Given the description of an element on the screen output the (x, y) to click on. 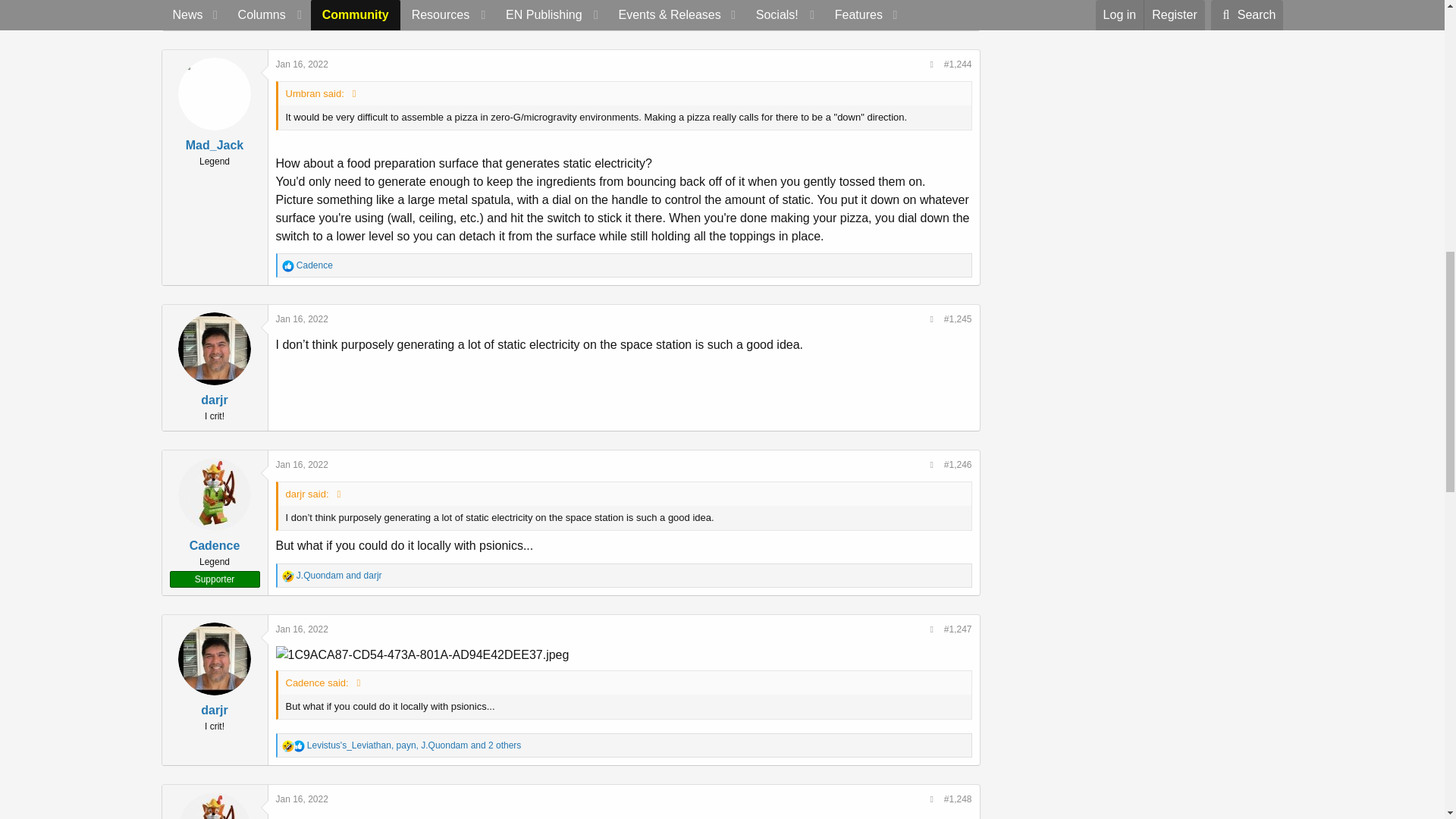
Jan 16, 2022 at 5:06 PM (302, 63)
Like (288, 10)
Like (288, 265)
